Given the description of an element on the screen output the (x, y) to click on. 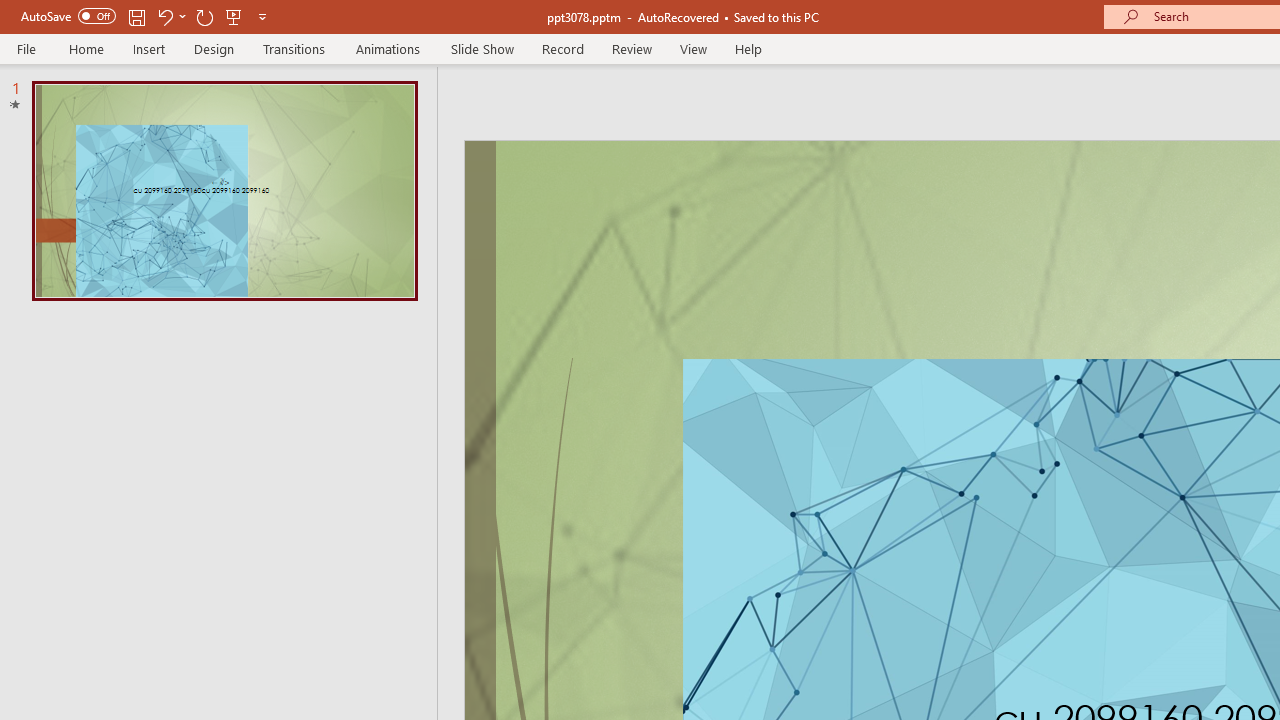
Slide (224, 190)
